Given the description of an element on the screen output the (x, y) to click on. 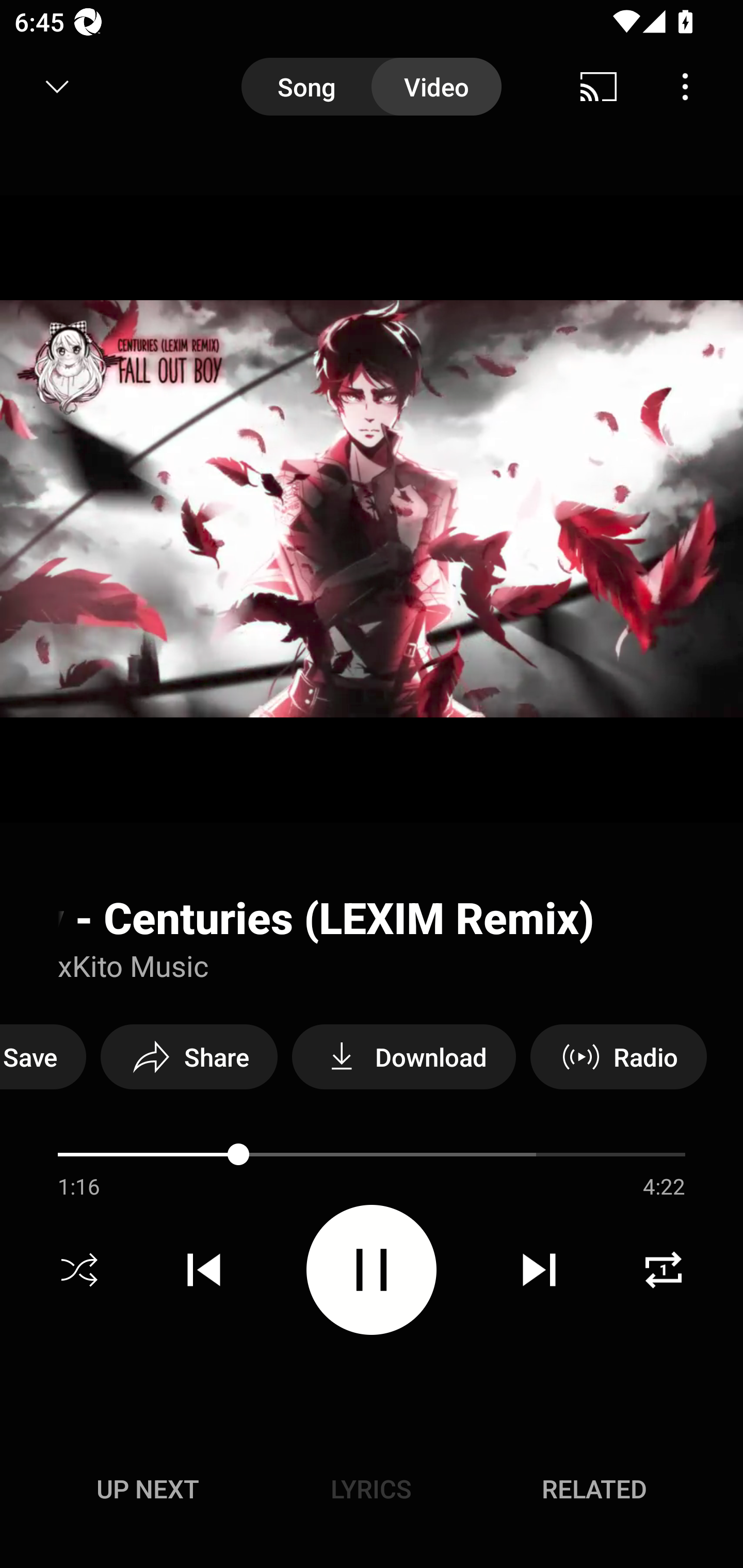
Back (50, 86)
Cast. Disconnected (598, 86)
Menu (684, 86)
Save Save to playlist (43, 1056)
Share (188, 1056)
Download (403, 1056)
Radio (618, 1056)
Pause video (371, 1269)
Shuffle off (79, 1269)
Previous track (203, 1269)
Next track (538, 1269)
Repeat one (663, 1269)
Up next UP NEXT Lyrics LYRICS Related RELATED (371, 1491)
Lyrics LYRICS (370, 1488)
Related RELATED (594, 1488)
